Given the description of an element on the screen output the (x, y) to click on. 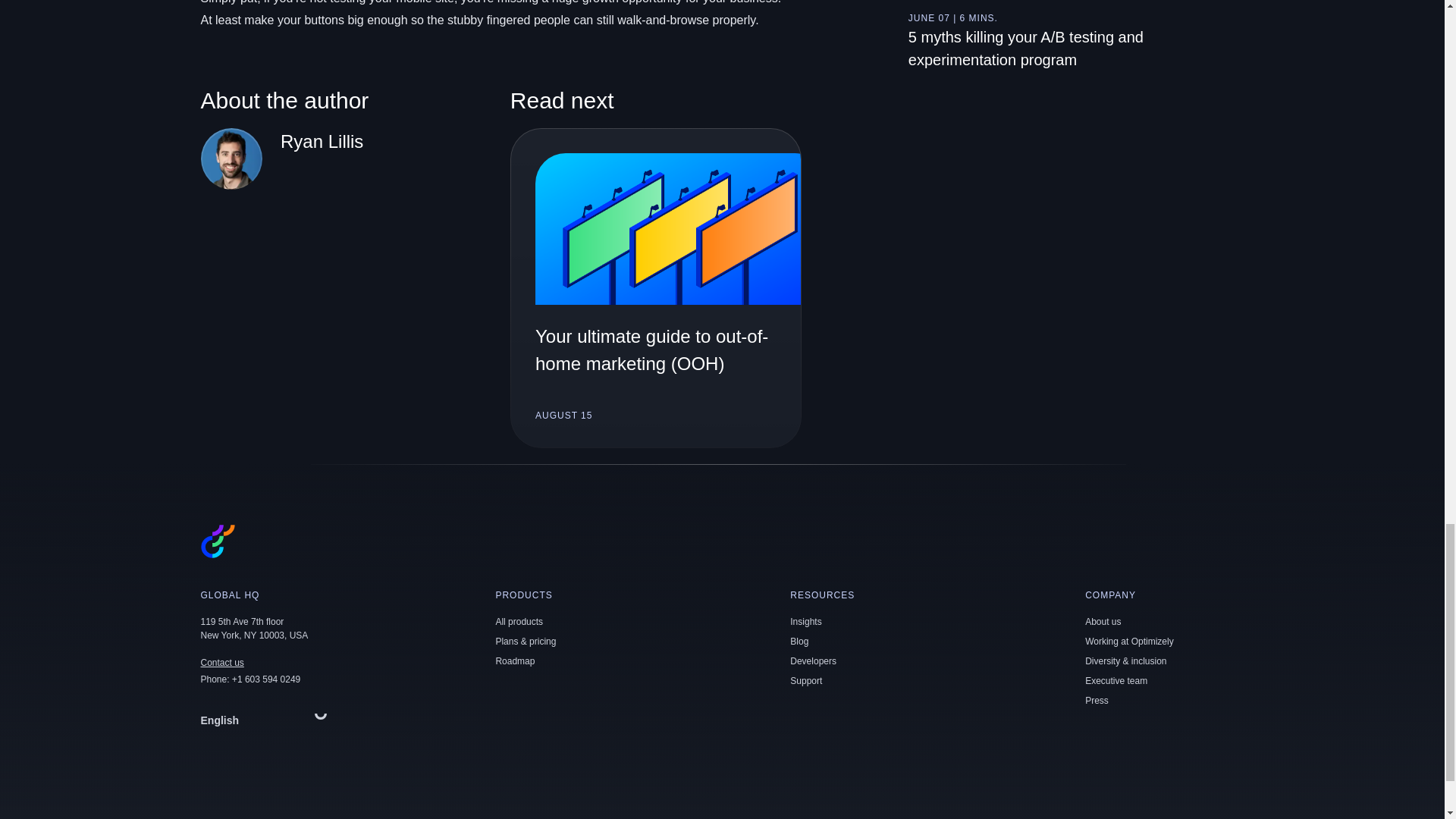
Roadmap (514, 661)
Insights (805, 621)
Contact us (221, 662)
About us (1102, 621)
Blog (799, 641)
All products (519, 621)
Working at Optimizely (1128, 641)
Support (806, 680)
Contact us (221, 662)
English (266, 720)
